Given the description of an element on the screen output the (x, y) to click on. 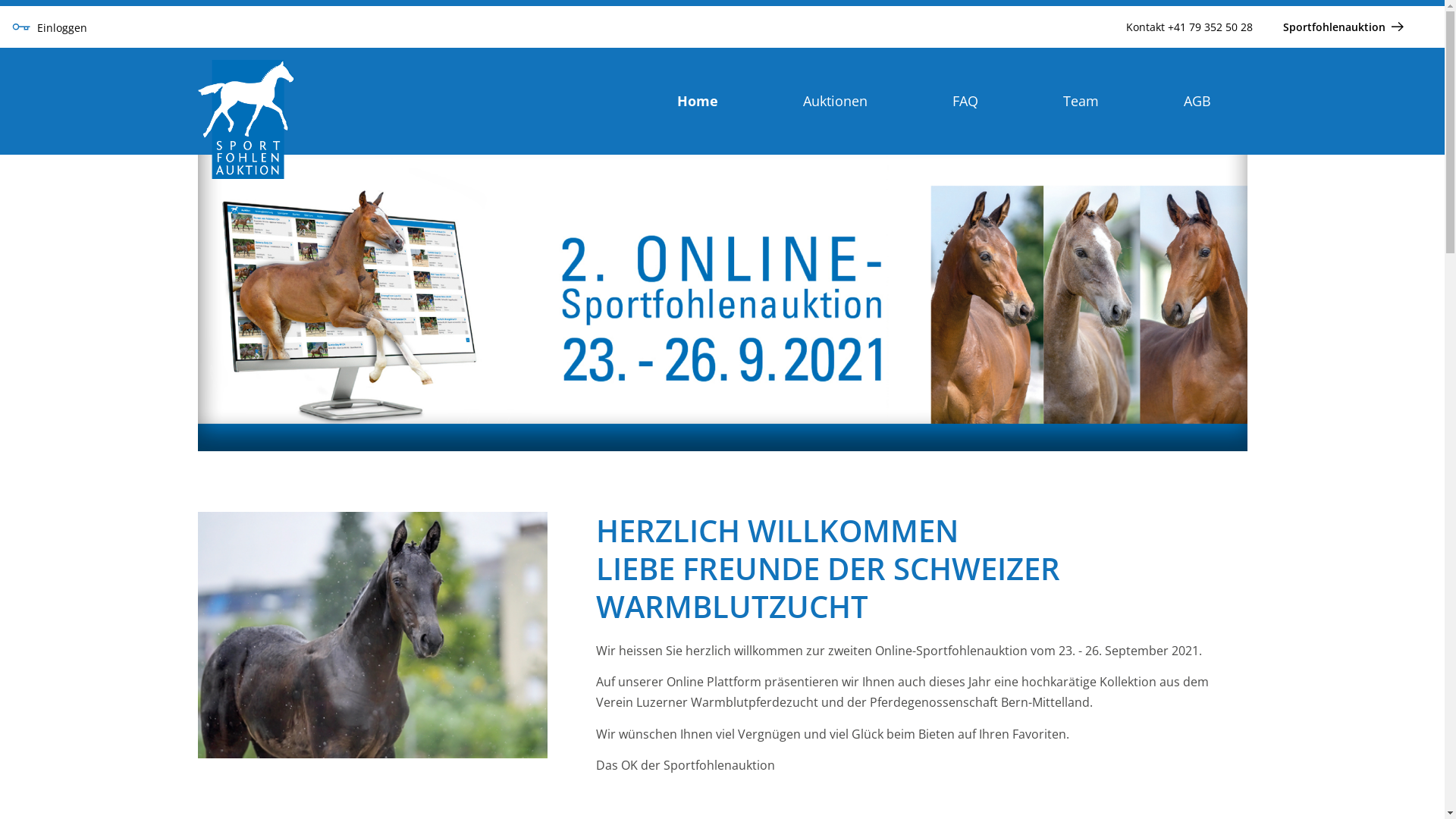
Kontakt +41 79 352 50 28 Element type: text (1189, 26)
Sportfohlenauktion Element type: text (1345, 26)
FAQ Element type: text (965, 100)
Auktionen Element type: text (834, 100)
AGB Element type: text (1196, 100)
Home Element type: text (696, 100)
Team Element type: text (1080, 100)
Einloggen Element type: text (49, 26)
